Given the description of an element on the screen output the (x, y) to click on. 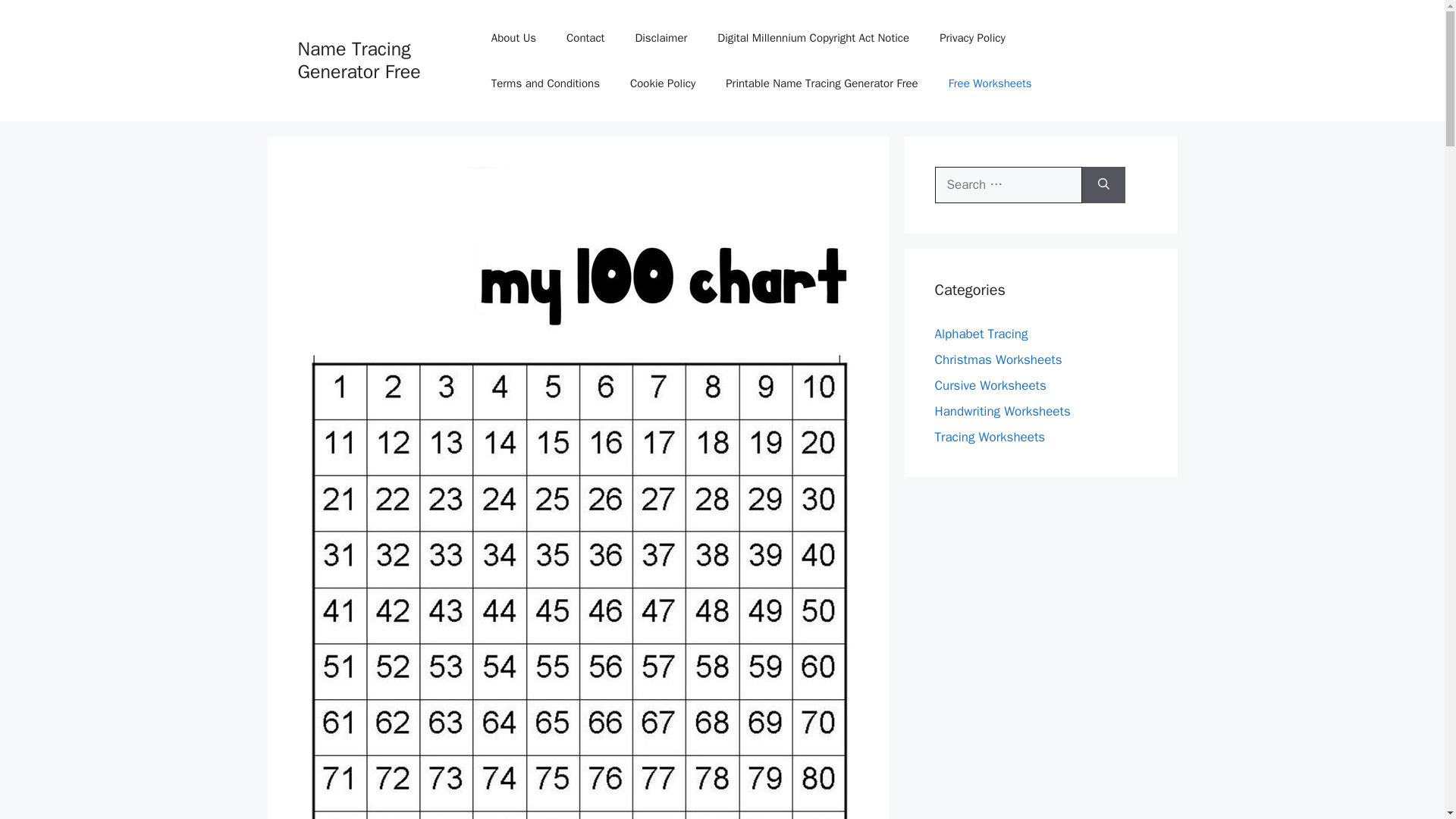
Free Worksheets (989, 83)
Search for: (1007, 185)
Tracing Worksheets (989, 437)
Christmas Worksheets (997, 359)
Cookie Policy (662, 83)
About Us (513, 37)
Name Tracing Generator Free (358, 59)
Handwriting Worksheets (1002, 411)
Disclaimer (660, 37)
Printable Name Tracing Generator Free (821, 83)
